Given the description of an element on the screen output the (x, y) to click on. 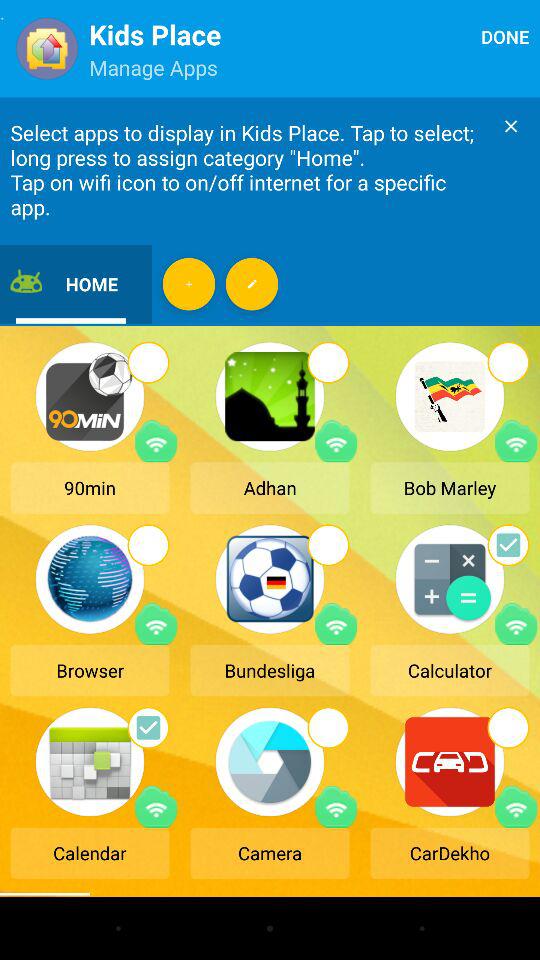
on\off internet for app (336, 624)
